Given the description of an element on the screen output the (x, y) to click on. 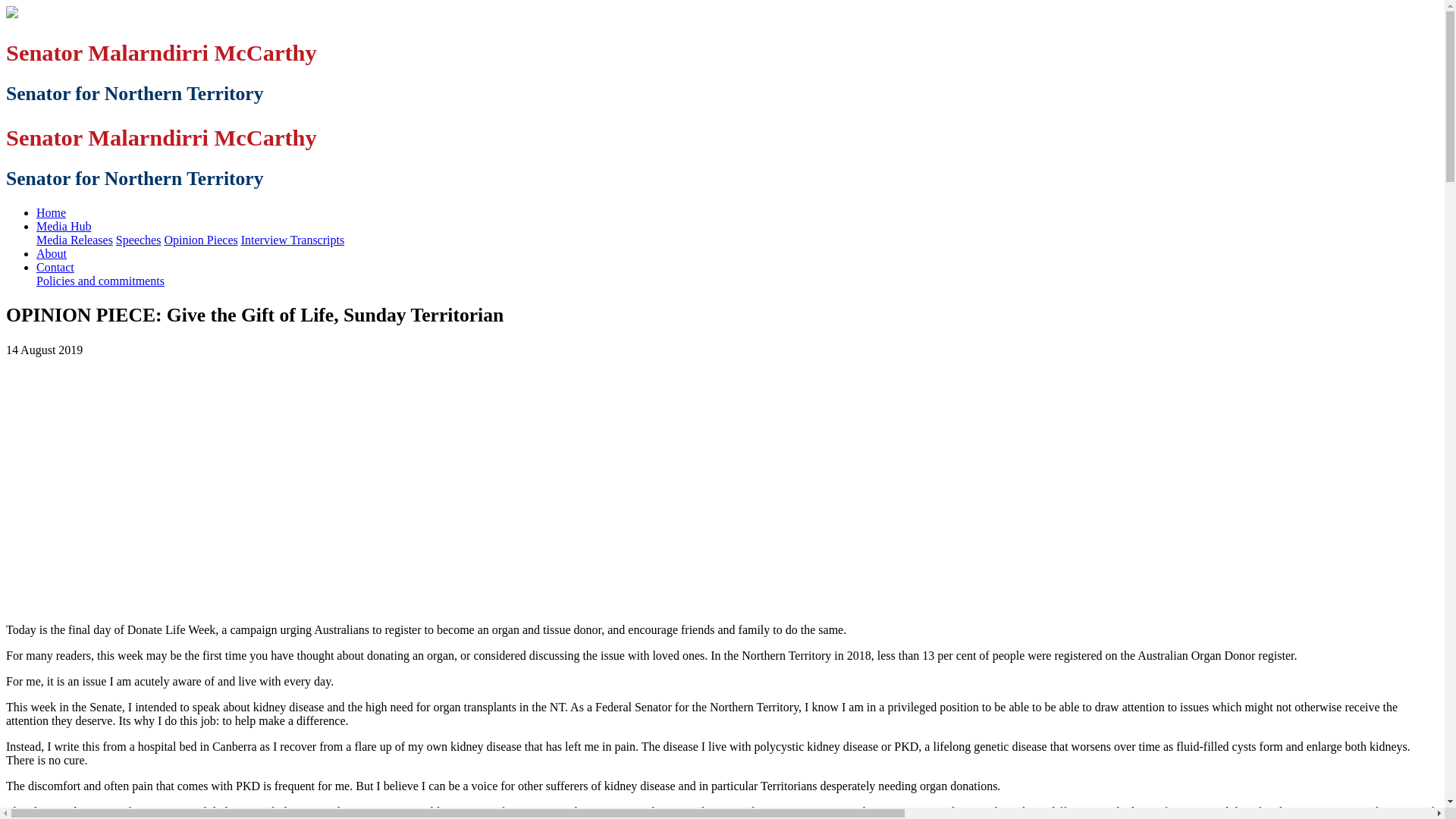
Policies and commitments Element type: text (100, 280)
Media Releases Element type: text (74, 239)
Opinion Pieces Element type: text (200, 239)
Media Hub Element type: text (63, 225)
Speeches Element type: text (138, 239)
About Element type: text (51, 253)
Interview Transcripts Element type: text (292, 239)
Home Element type: text (50, 212)
Contact Element type: text (55, 266)
